Given the description of an element on the screen output the (x, y) to click on. 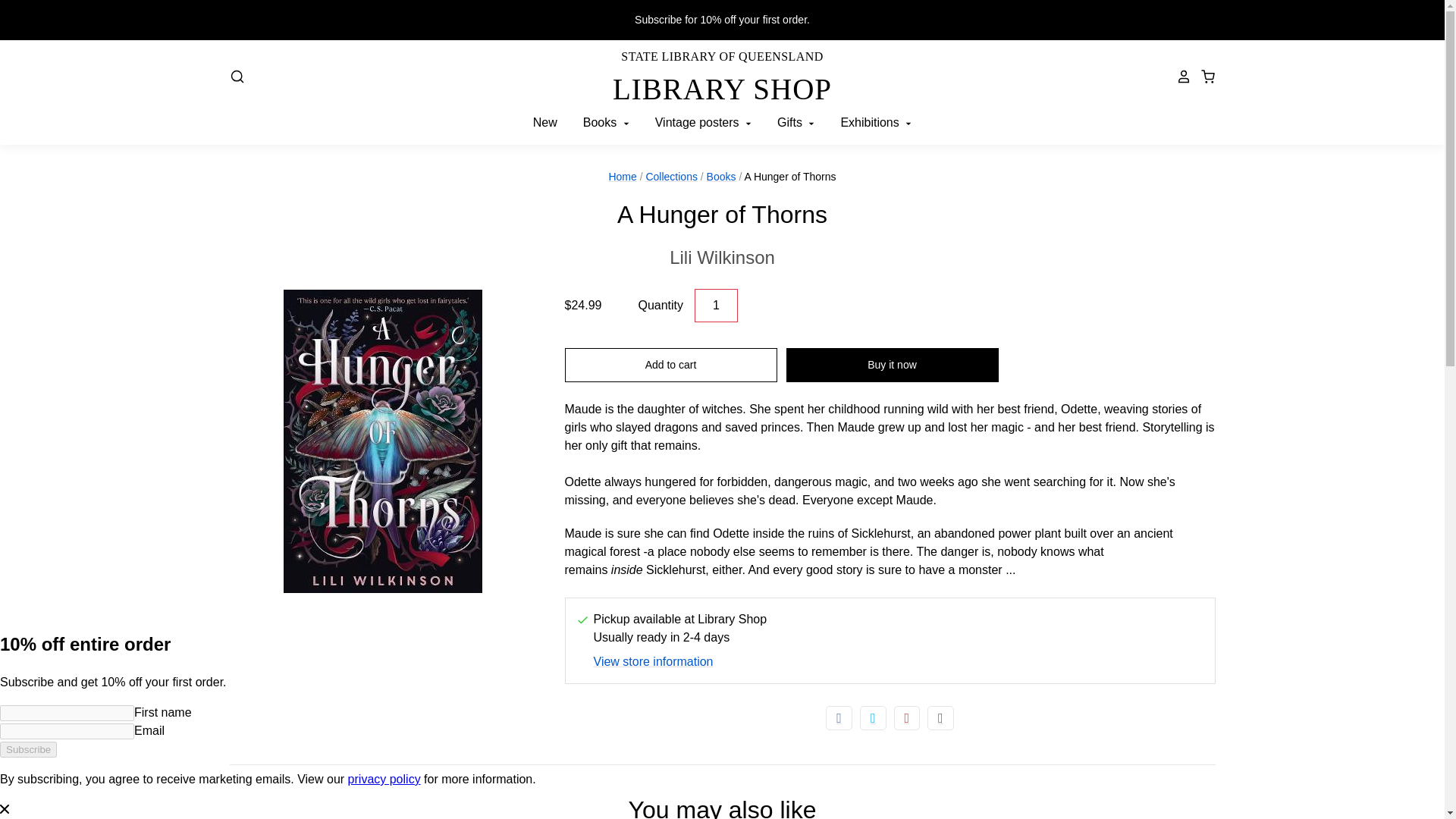
Add to cart (721, 257)
1 (670, 364)
